Given the description of an element on the screen output the (x, y) to click on. 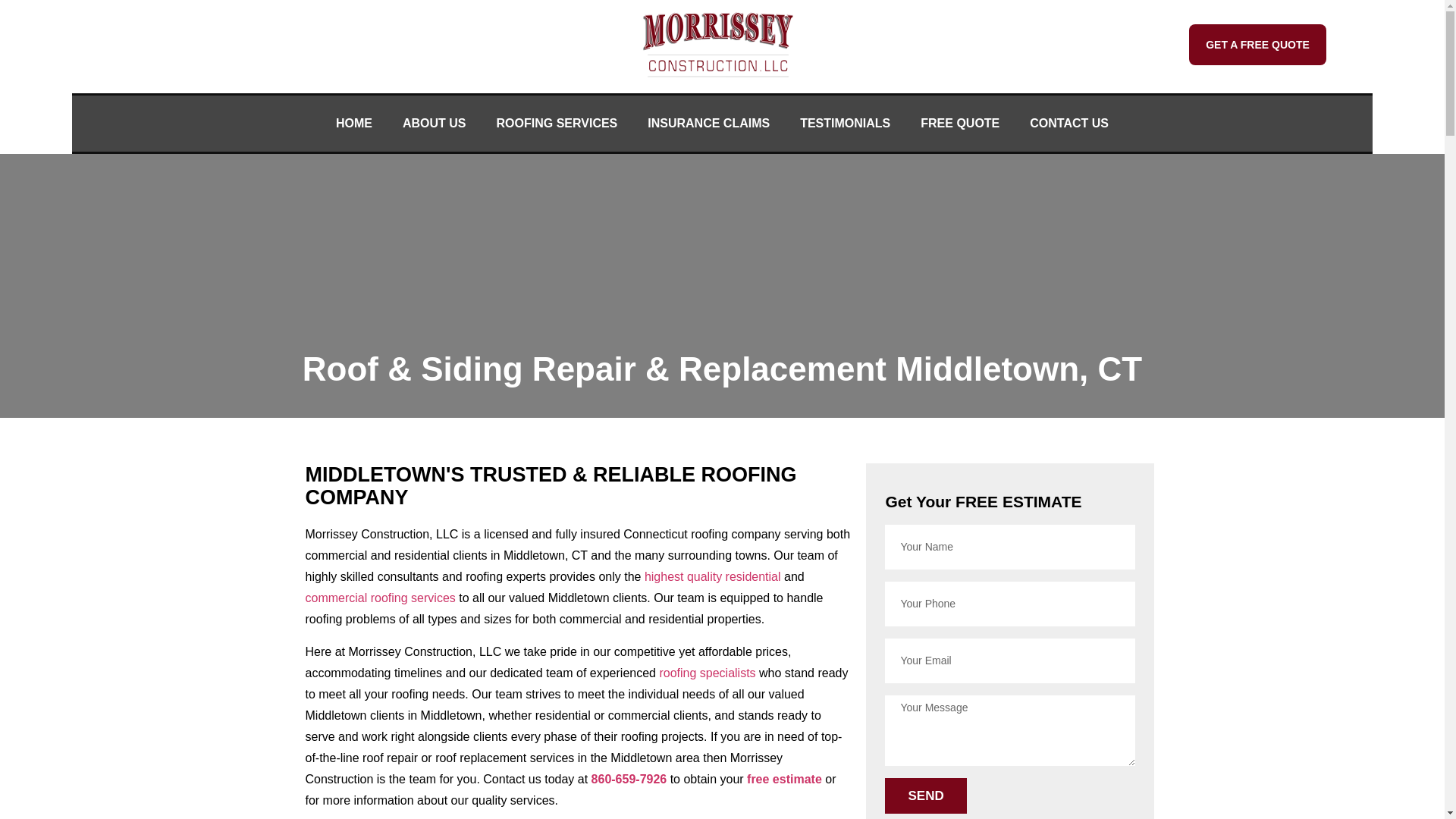
GET A FREE QUOTE (1257, 44)
TESTIMONIALS (844, 123)
ROOFING SERVICES (557, 123)
FREE QUOTE (959, 123)
CONTACT US (1069, 123)
INSURANCE CLAIMS (707, 123)
HOME (353, 123)
ABOUT US (434, 123)
860-659-7926 (1110, 44)
